Given the description of an element on the screen output the (x, y) to click on. 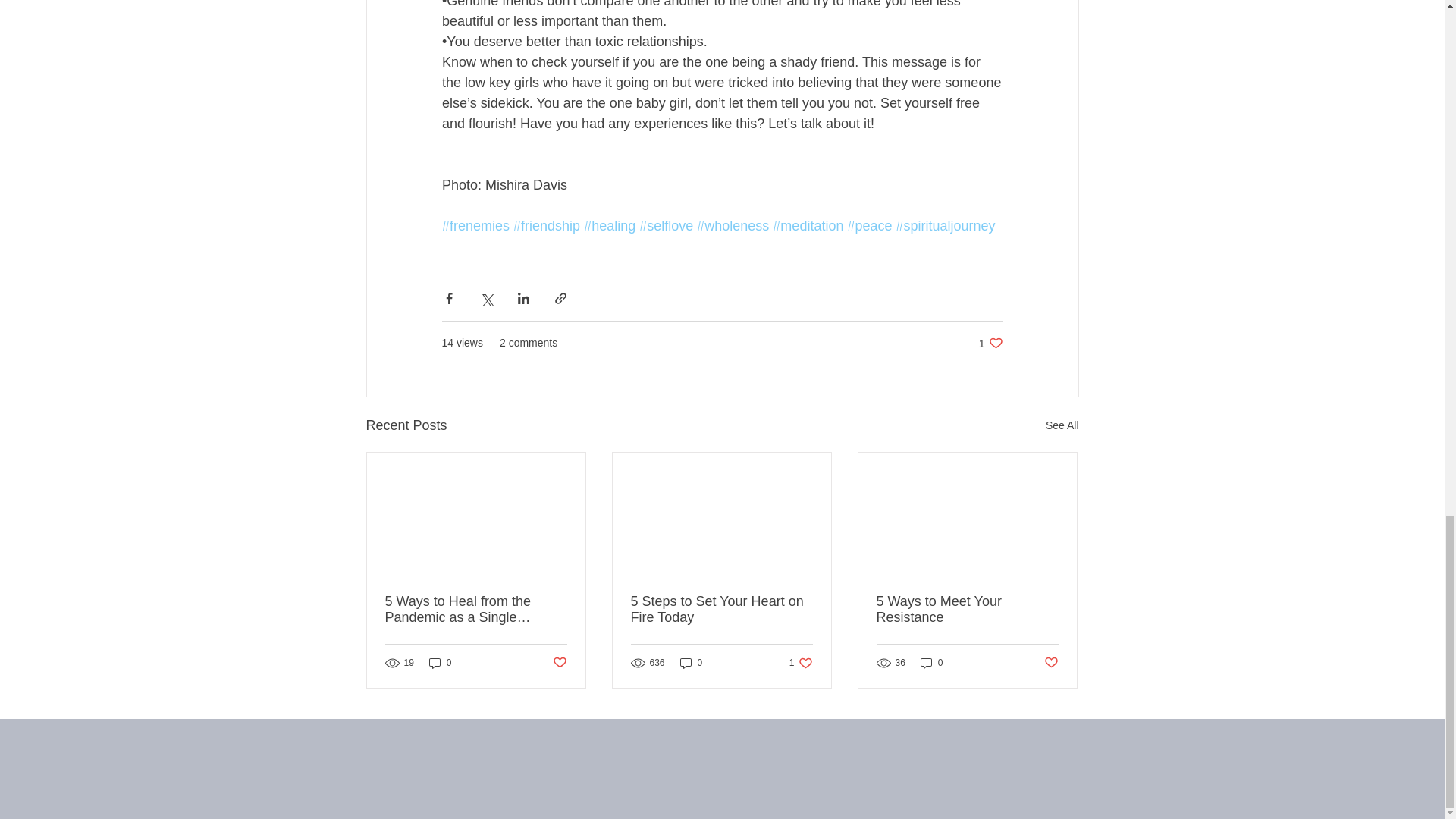
Post not marked as liked (1050, 662)
Post not marked as liked (558, 662)
0 (990, 342)
5 Ways to Meet Your Resistance (440, 663)
0 (967, 609)
5 Steps to Set Your Heart on Fire Today (800, 663)
5 Ways to Heal from the Pandemic as a Single Woman (691, 663)
0 (721, 609)
See All (476, 609)
